Given the description of an element on the screen output the (x, y) to click on. 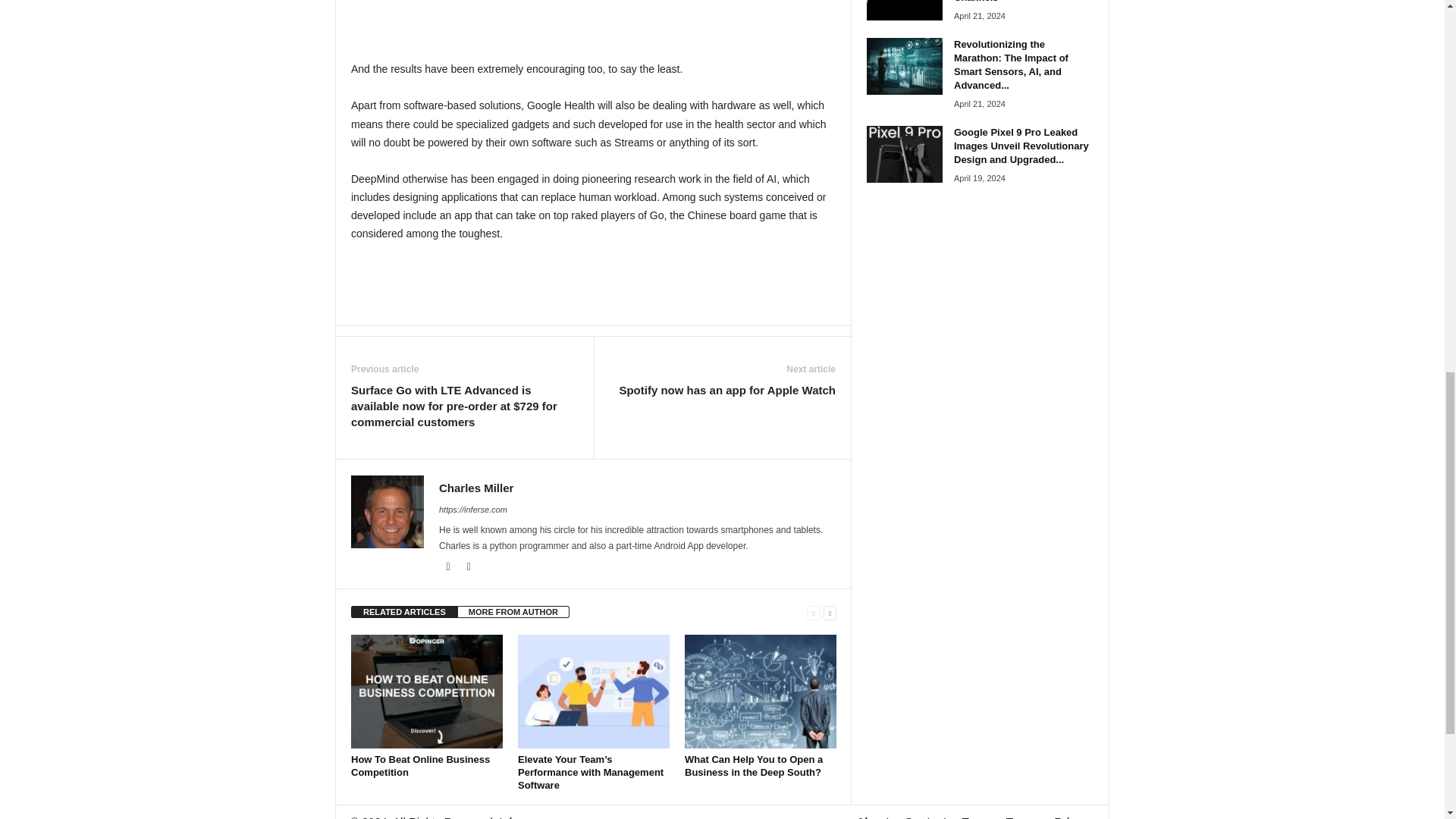
MORE FROM AUTHOR (513, 612)
Spotify now has an app for Apple Watch (726, 390)
Facebook (449, 566)
RELATED ARTICLES (404, 612)
How To Beat Online Business Competition (419, 765)
Twitter (468, 566)
Charles Miller (476, 487)
How To Beat Online Business Competition (419, 765)
How To Beat Online Business Competition (426, 691)
Advertisement (593, 283)
Advertisement (592, 21)
